Given the description of an element on the screen output the (x, y) to click on. 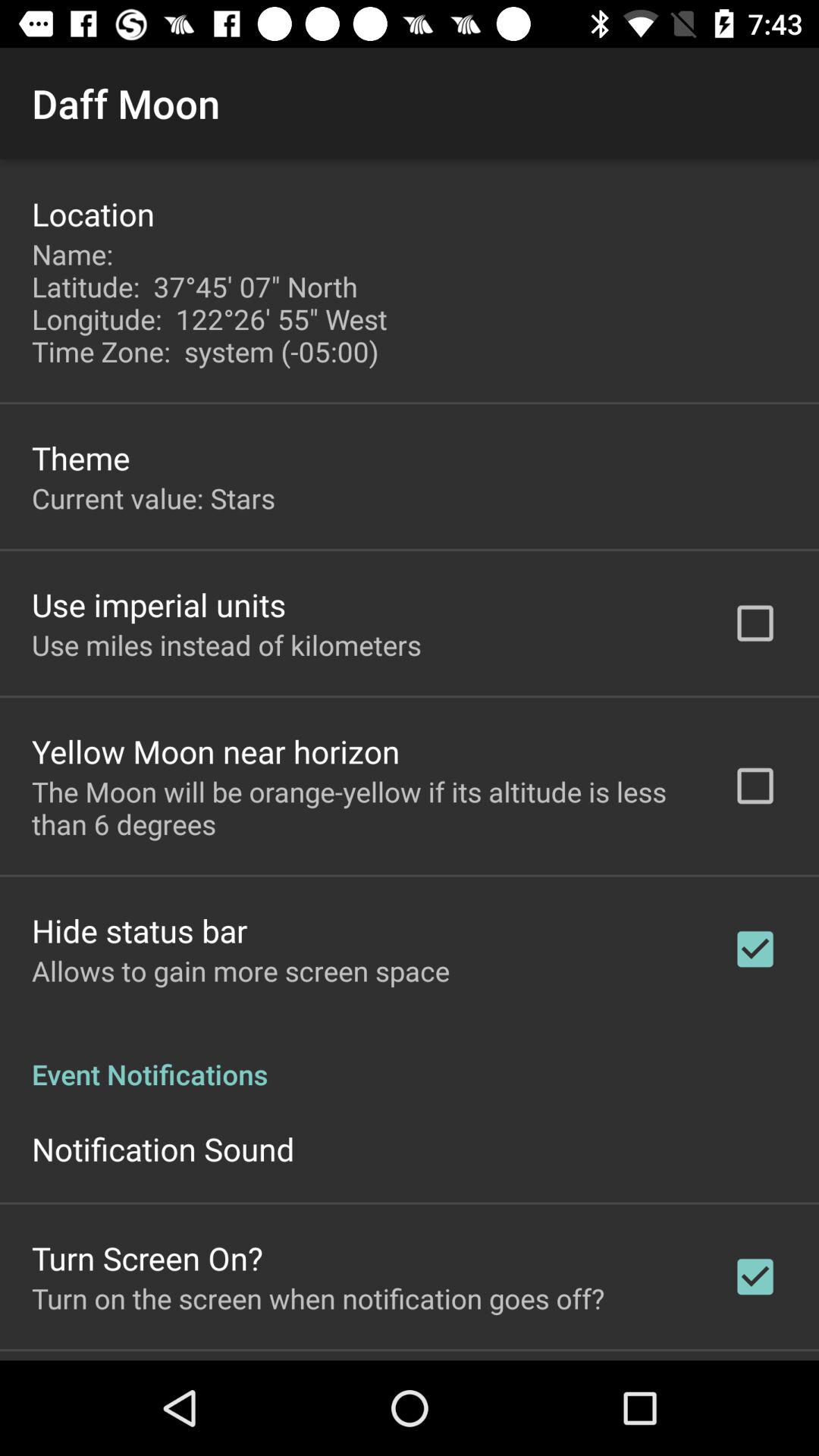
press hide status bar item (139, 930)
